Given the description of an element on the screen output the (x, y) to click on. 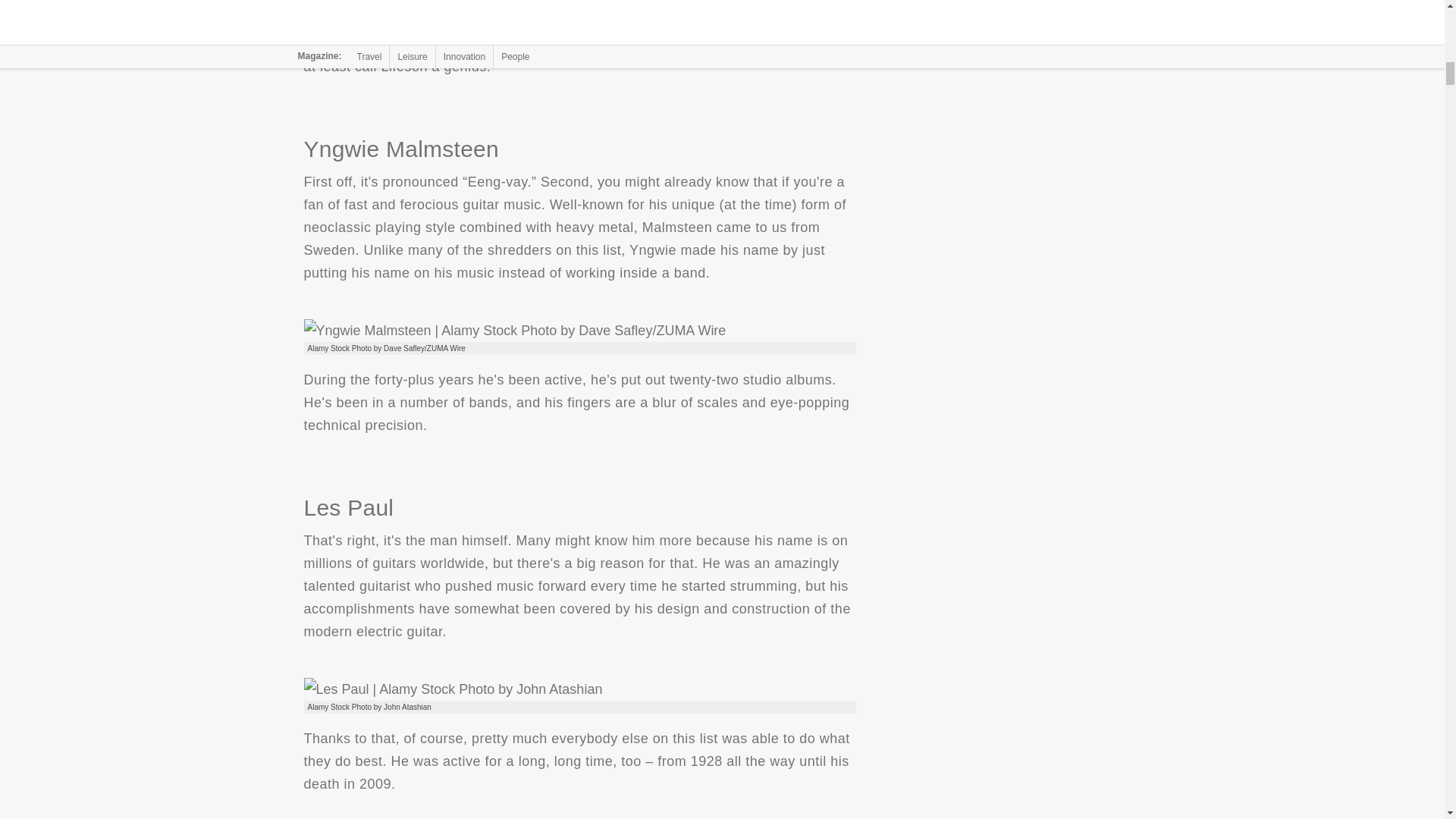
Les Paul (452, 689)
Yngwie Malmsteen (513, 330)
